Given the description of an element on the screen output the (x, y) to click on. 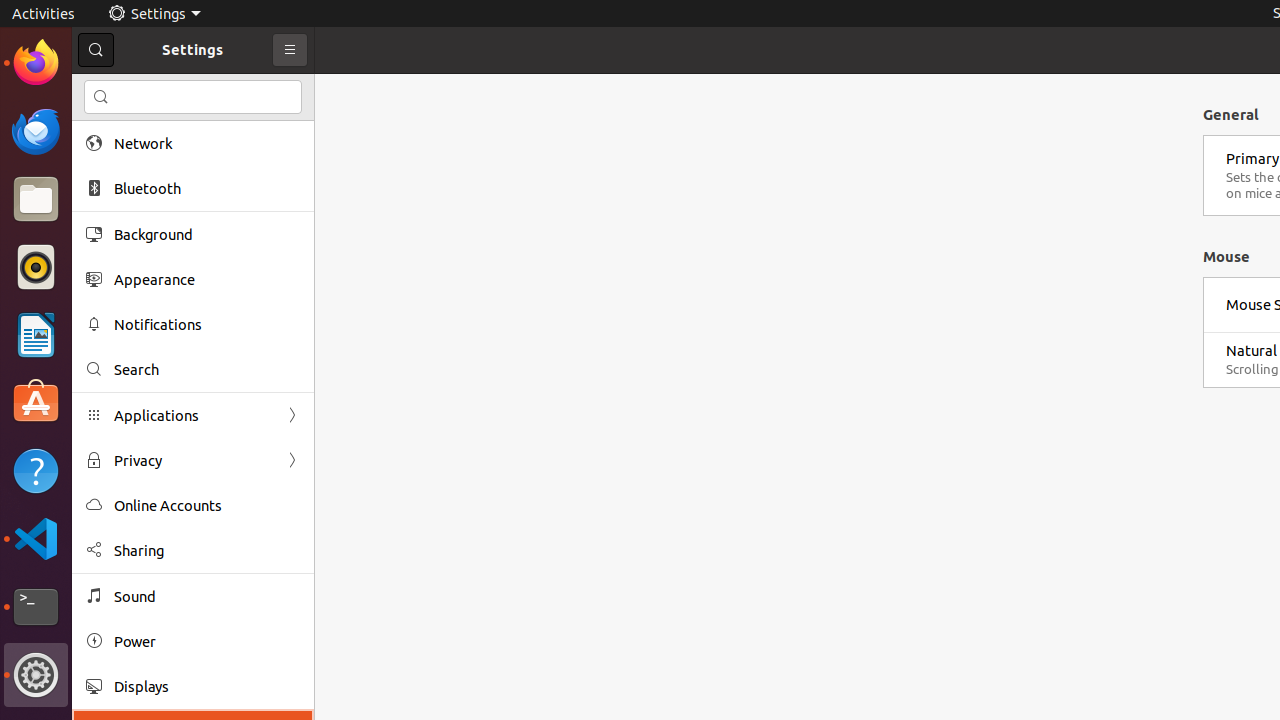
Primary Menu Element type: toggle-button (290, 50)
Power Element type: label (207, 641)
Privacy Element type: label (193, 460)
